Given the description of an element on the screen output the (x, y) to click on. 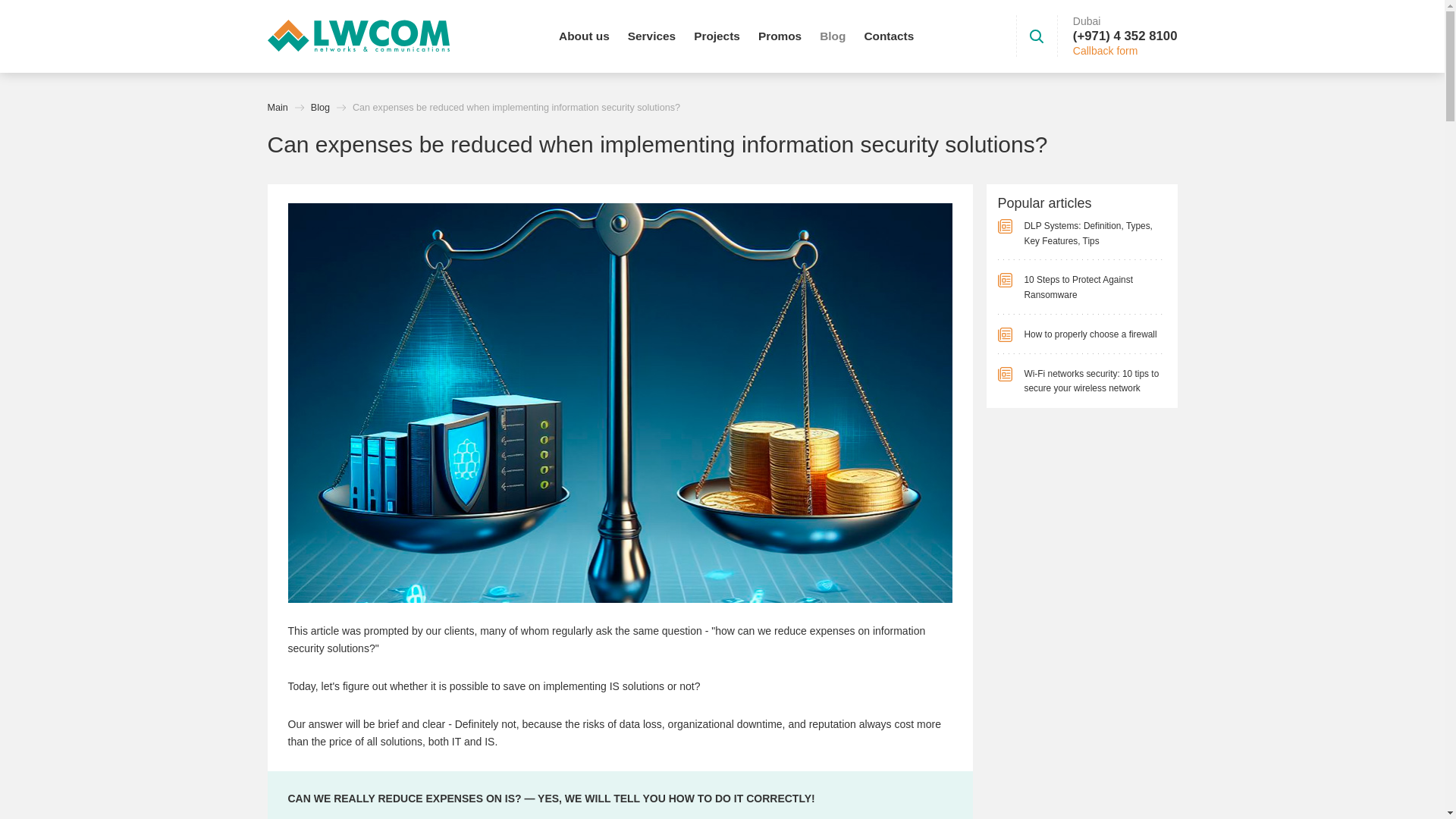
Contacts (888, 35)
About us (584, 35)
Blog (320, 107)
DLP Systems: Definition, Types, Key Features, Tips (1081, 233)
Services (651, 35)
10 Steps to Protect Against Ransomware (1081, 287)
Blog (320, 107)
Projects (716, 35)
Main (276, 107)
How to properly choose a firewall (1081, 335)
Main (276, 107)
Promos (780, 35)
Blog (832, 35)
